Given the description of an element on the screen output the (x, y) to click on. 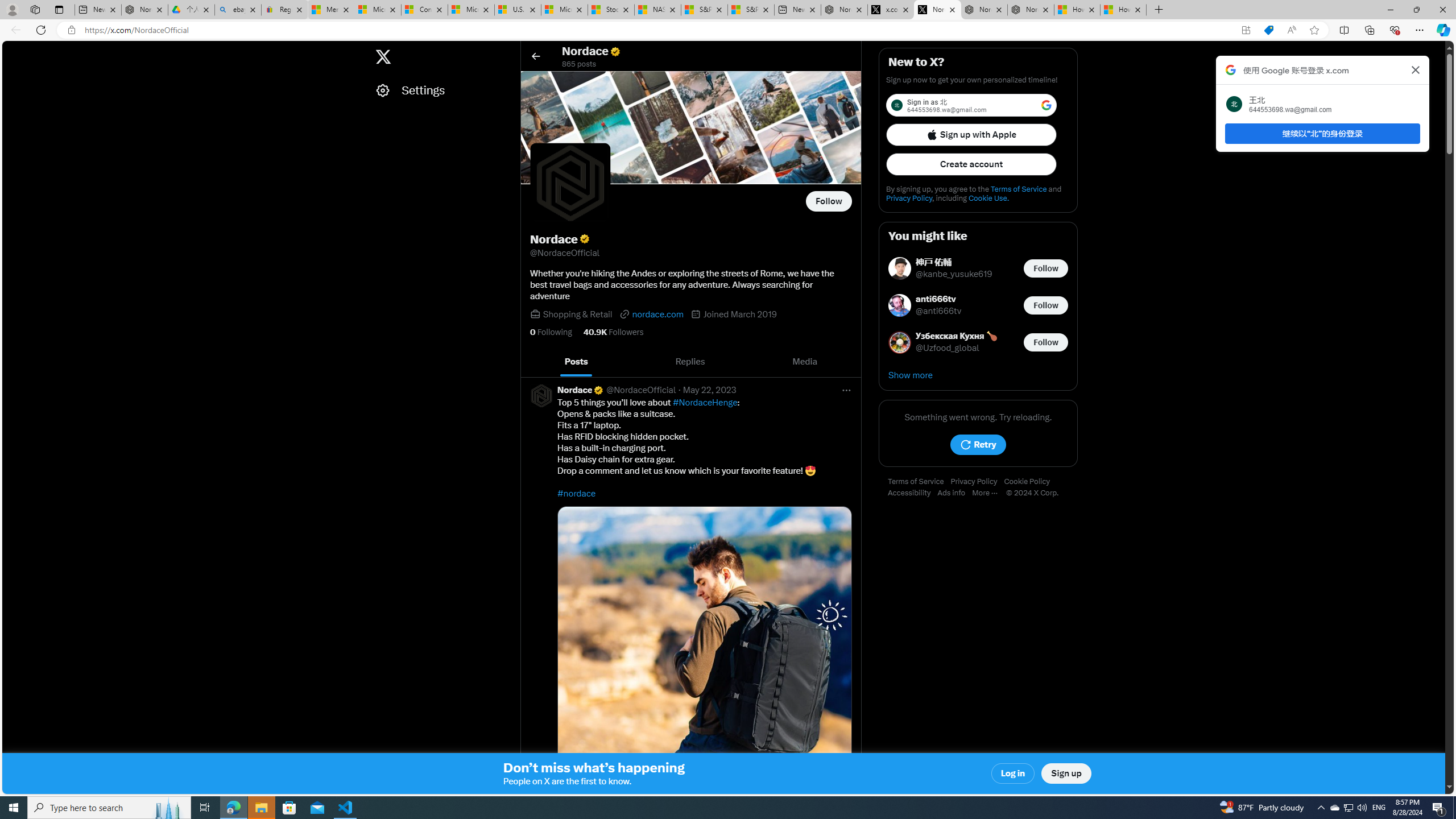
x.com/NordaceOfficial (805, 9)
Show more (978, 375)
Nordace Verified account (580, 389)
Sign up (1066, 773)
@Uzfood_global (947, 348)
Shopping in Microsoft Edge (1268, 29)
Ads info (954, 492)
Class: LgbsSe-Bz112c (1046, 104)
